Given the description of an element on the screen output the (x, y) to click on. 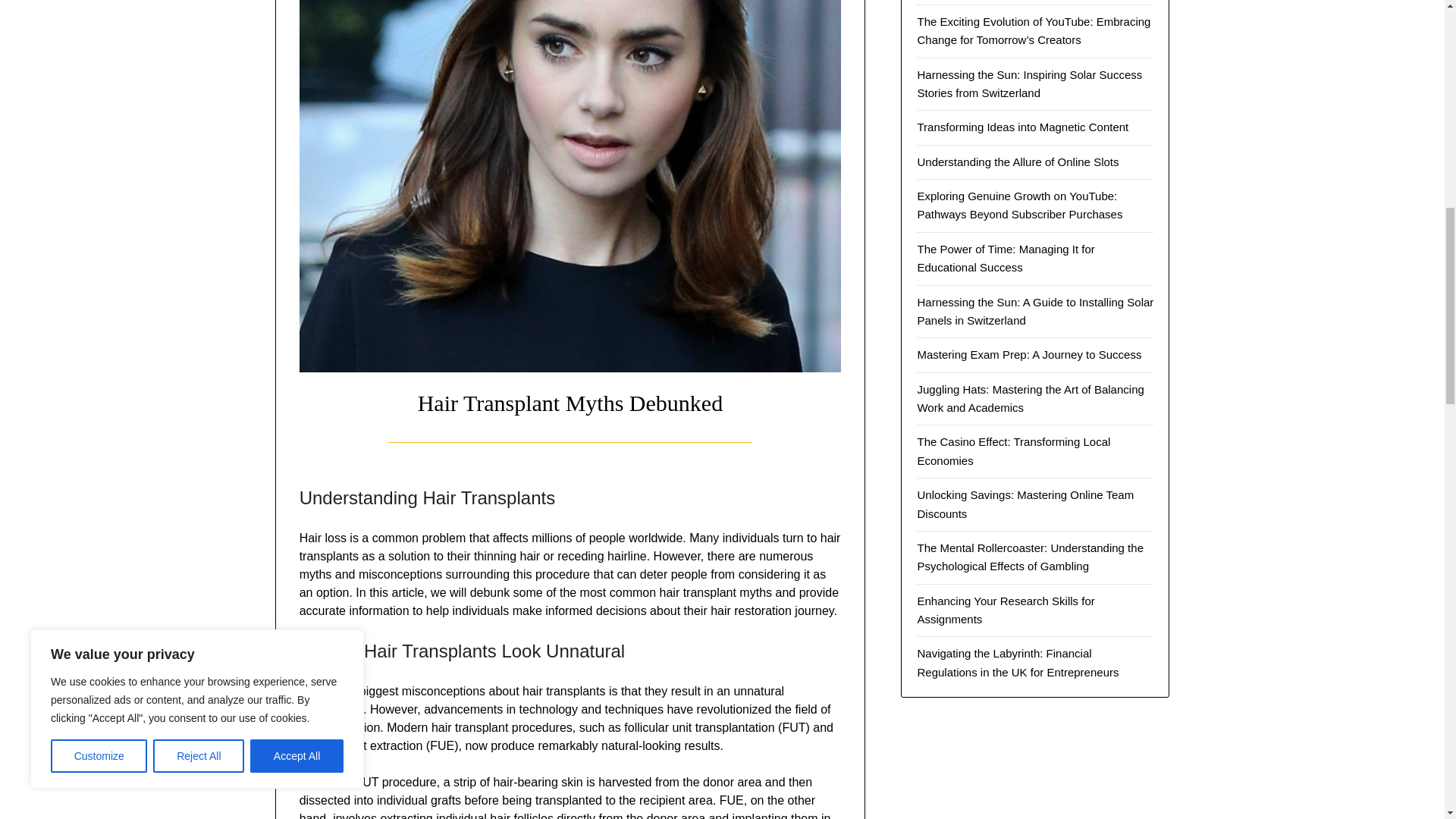
The Power of Time: Managing It for Educational Success (1005, 257)
Understanding the Allure of Online Slots (1017, 161)
Transforming Ideas into Magnetic Content (1022, 126)
Mastering Exam Prep: A Journey to Success (1029, 354)
